Given the description of an element on the screen output the (x, y) to click on. 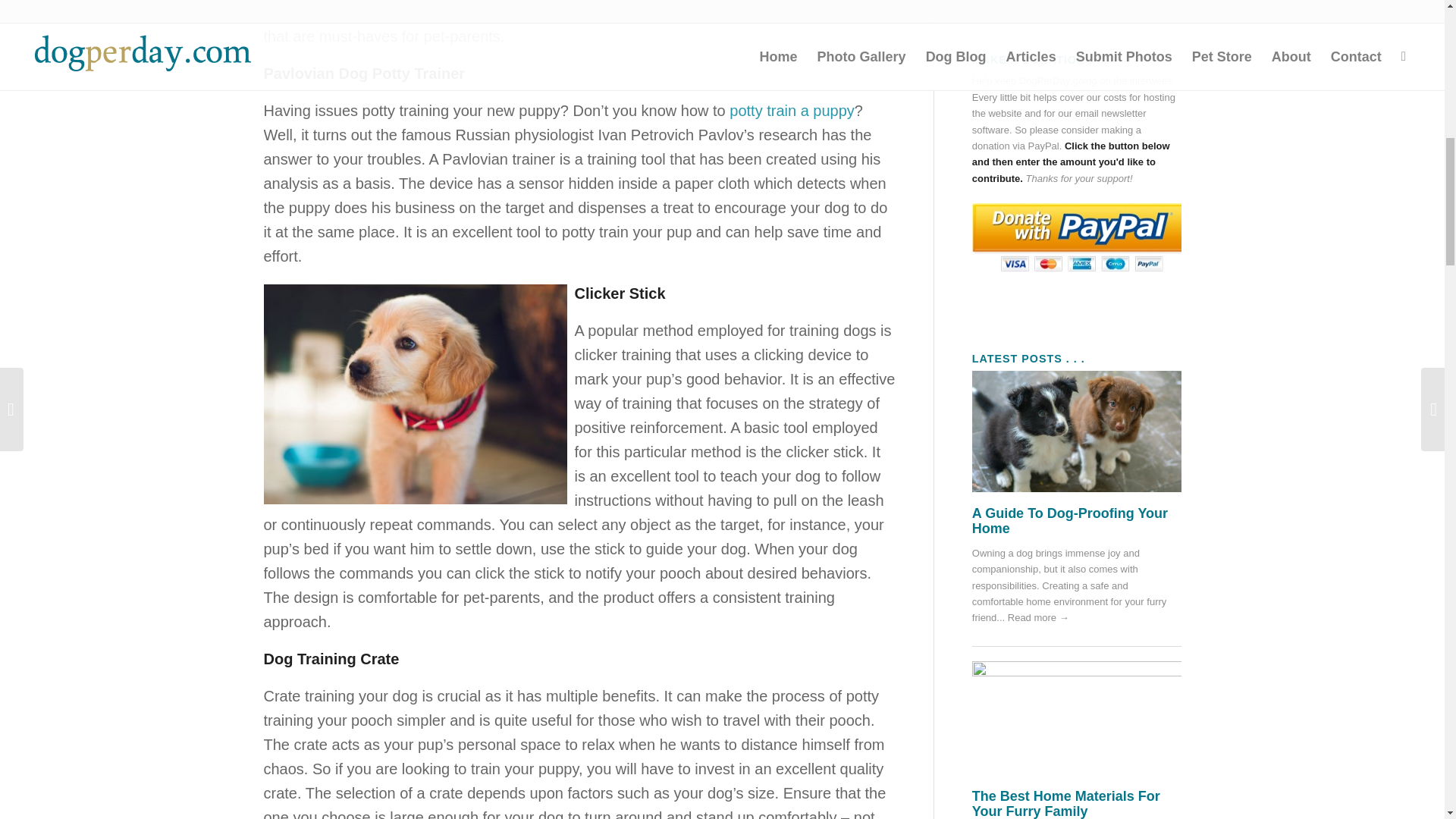
potty train a puppy (791, 110)
